Given the description of an element on the screen output the (x, y) to click on. 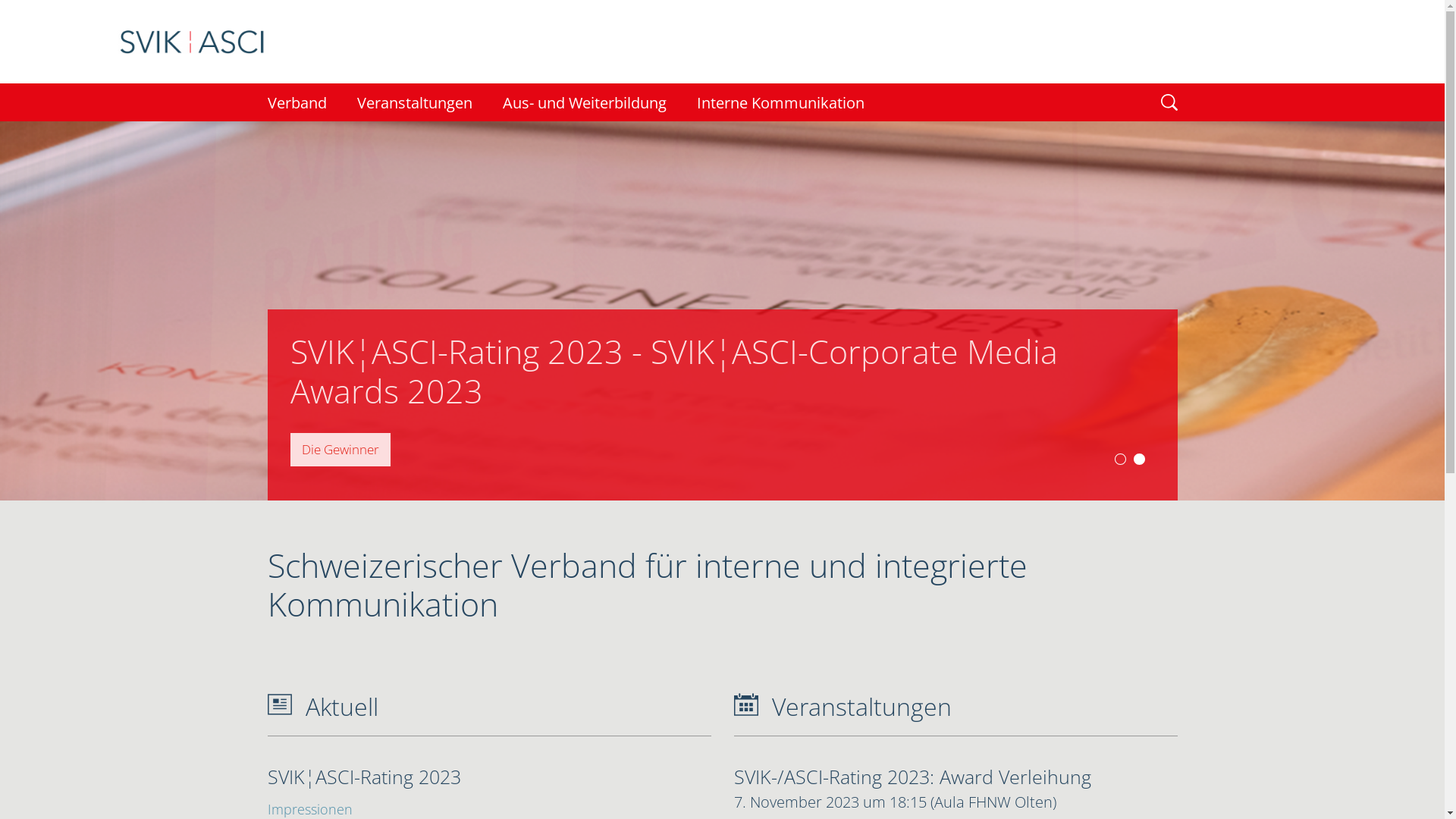
Verband Element type: text (303, 102)
Interne Kommunikation Element type: text (779, 102)
Impressionen Element type: text (308, 809)
Die Gewinner Element type: text (339, 449)
Aus- und Weiterbildung Element type: text (583, 102)
Impressionen Element type: text (340, 449)
Veranstaltungen Element type: text (413, 102)
Search Element type: text (8, 8)
